Given the description of an element on the screen output the (x, y) to click on. 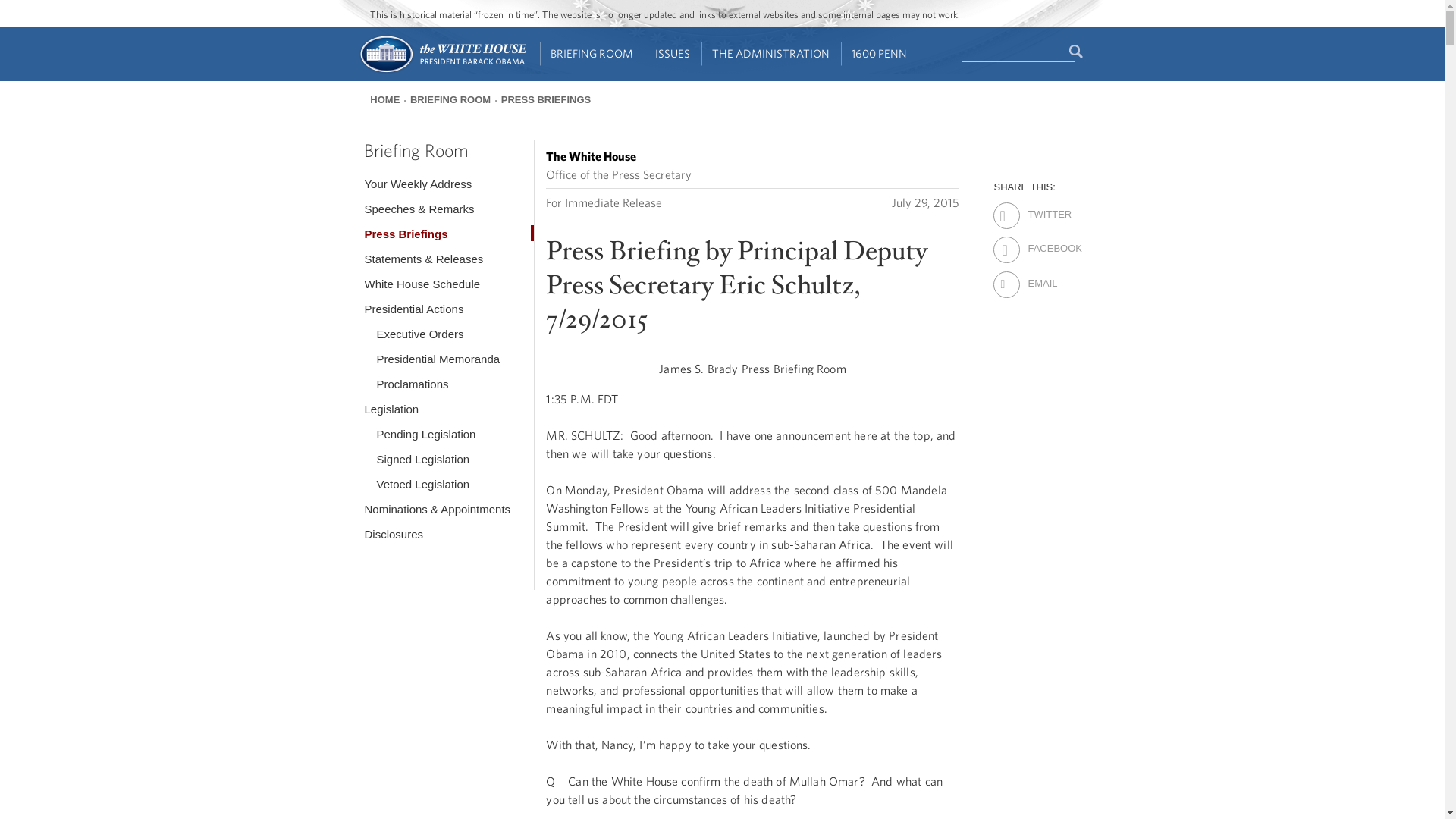
ISSUES (673, 53)
BRIEFING ROOM (592, 53)
Facebook (1040, 238)
Twitter (1040, 204)
Home (441, 70)
Search (1076, 51)
Enter the terms you wish to search for. (1017, 52)
Email (1040, 273)
